Given the description of an element on the screen output the (x, y) to click on. 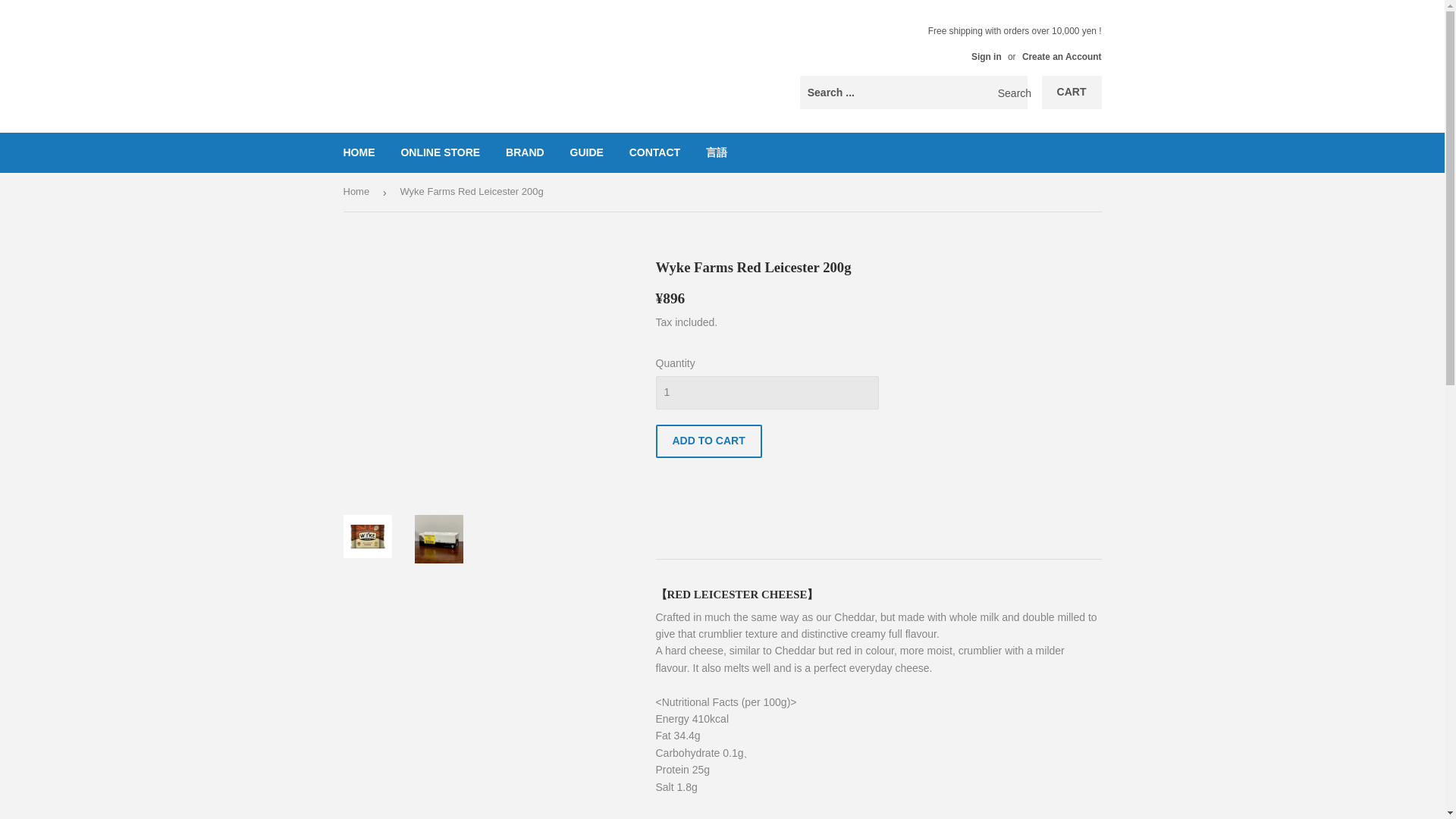
CART (1072, 92)
Search (1009, 92)
GUIDE (585, 151)
HOME (359, 151)
ONLINE STORE (440, 151)
1 (766, 392)
ADD TO CART (708, 441)
BRAND (525, 151)
Sign in (986, 56)
Create an Account (1062, 56)
CONTACT (654, 151)
